Given the description of an element on the screen output the (x, y) to click on. 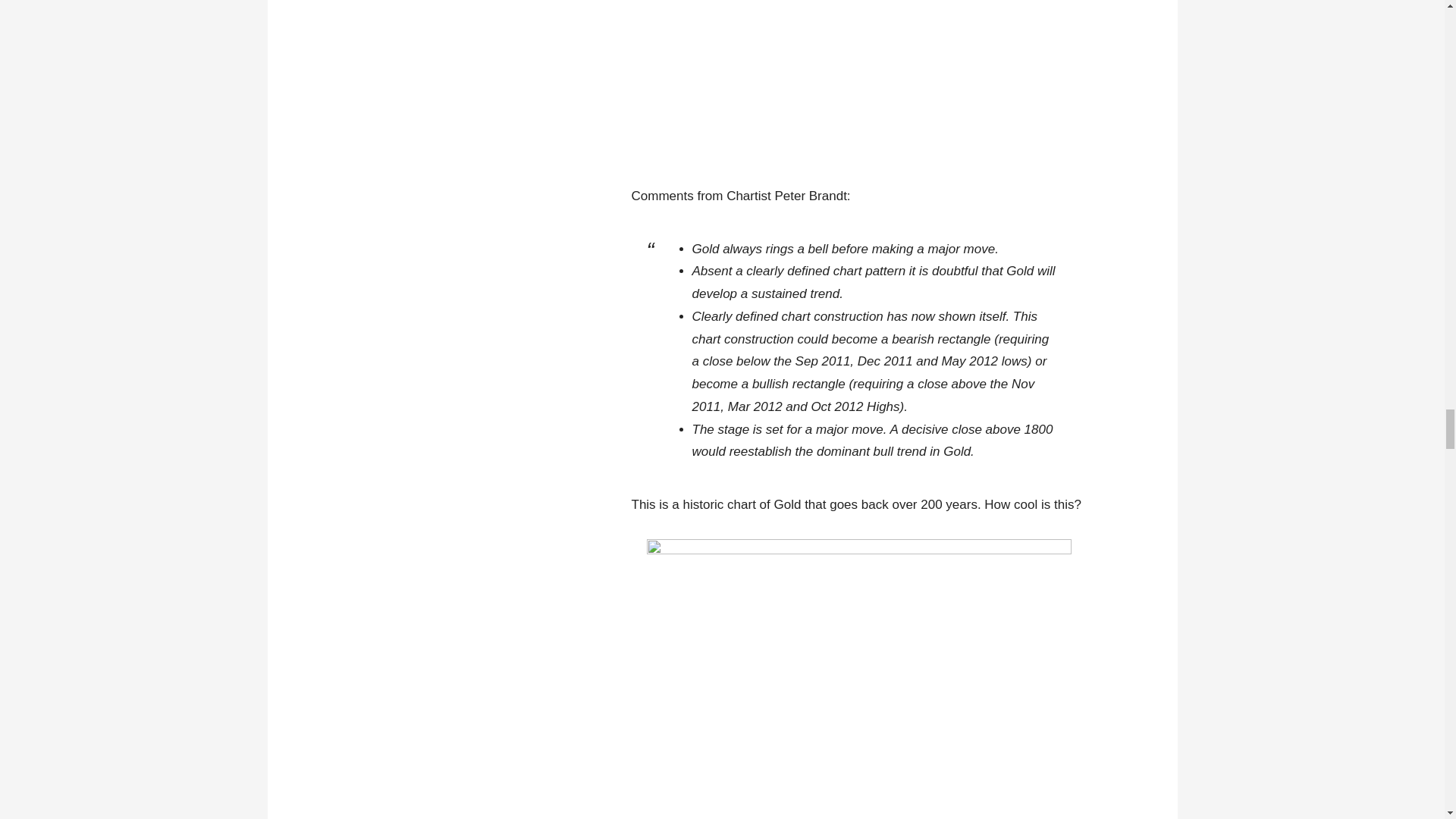
11-21-12 peter brandt gold (858, 678)
11-21-12 Gold Peter Brandt Present (858, 81)
